Given the description of an element on the screen output the (x, y) to click on. 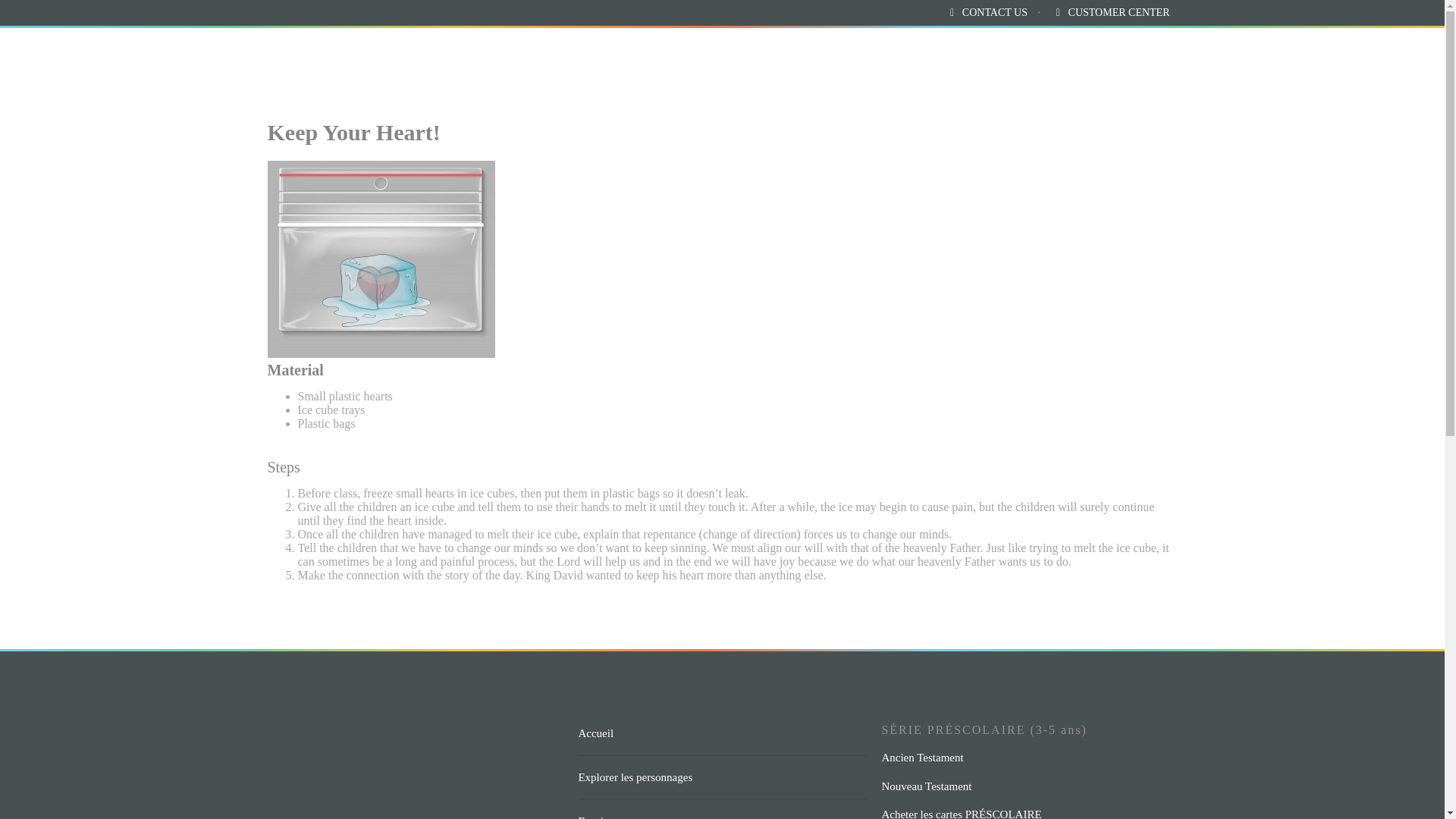
Boutique (599, 809)
CUSTOMER CENTER (1119, 12)
Nouveau Testament (983, 786)
Ancien Testament (983, 758)
Explorer les personnages (635, 777)
CONTACT US (994, 12)
